Given the description of an element on the screen output the (x, y) to click on. 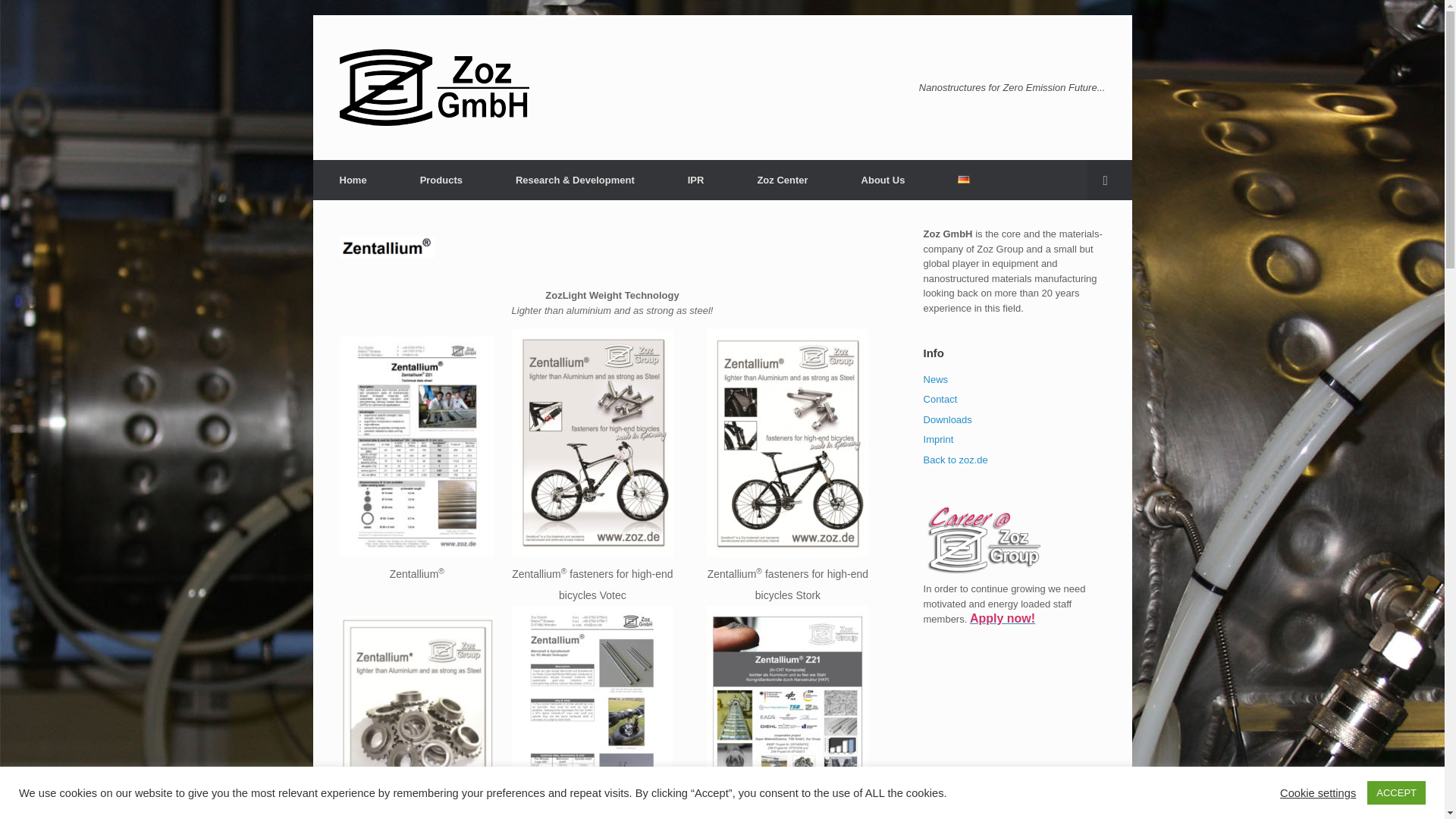
Zoz GmbH (434, 87)
Home (353, 179)
Products (441, 179)
